Given the description of an element on the screen output the (x, y) to click on. 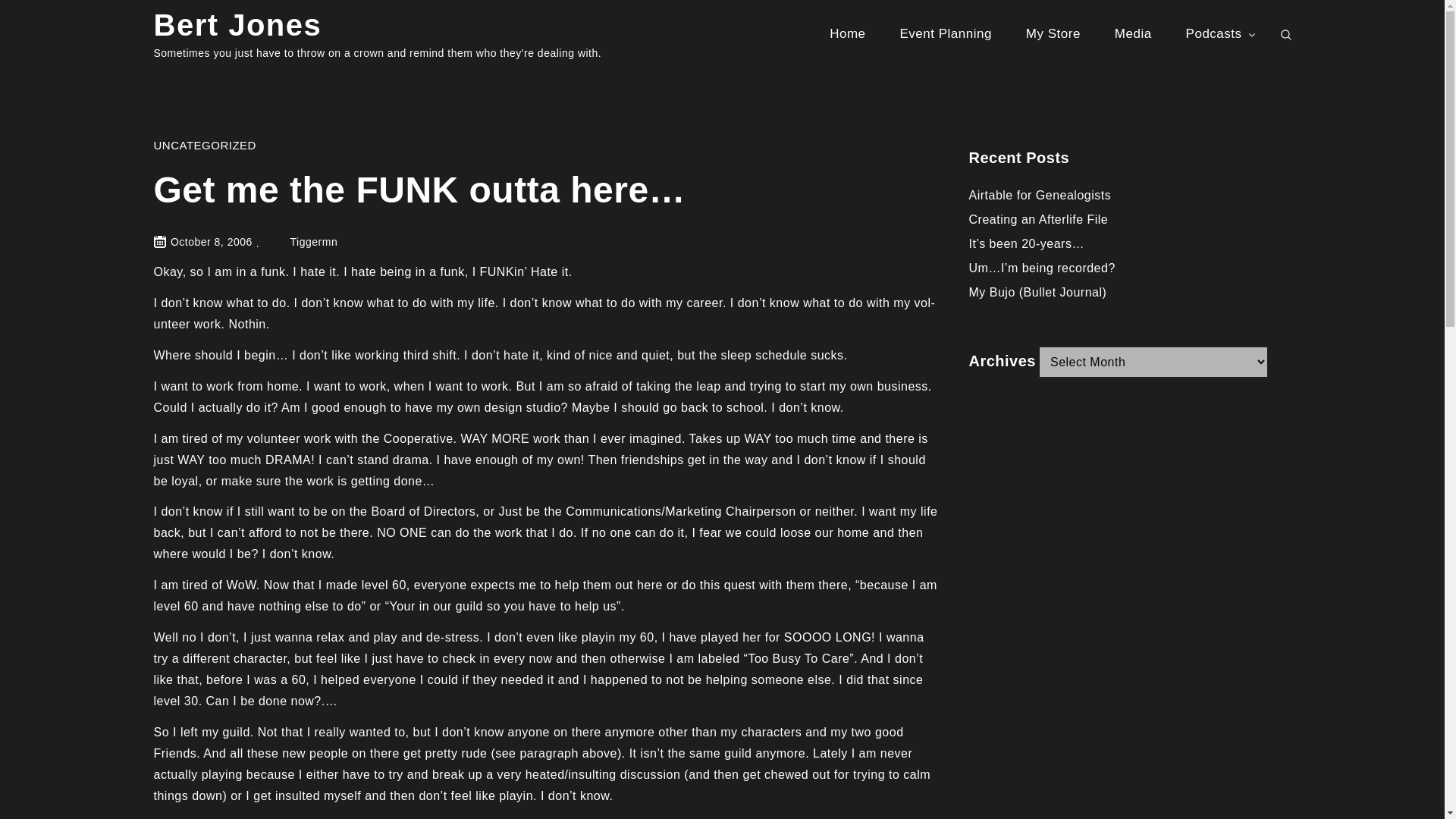
My Store (1053, 33)
Podcasts (1221, 33)
UNCATEGORIZED (204, 144)
Event Planning (946, 33)
Media (1133, 33)
Tiggermn (301, 241)
Creating an Afterlife File (1038, 219)
October 8, 2006 (210, 241)
Bert Jones (236, 24)
Home (846, 33)
Airtable for Genealogists (1040, 195)
